Given the description of an element on the screen output the (x, y) to click on. 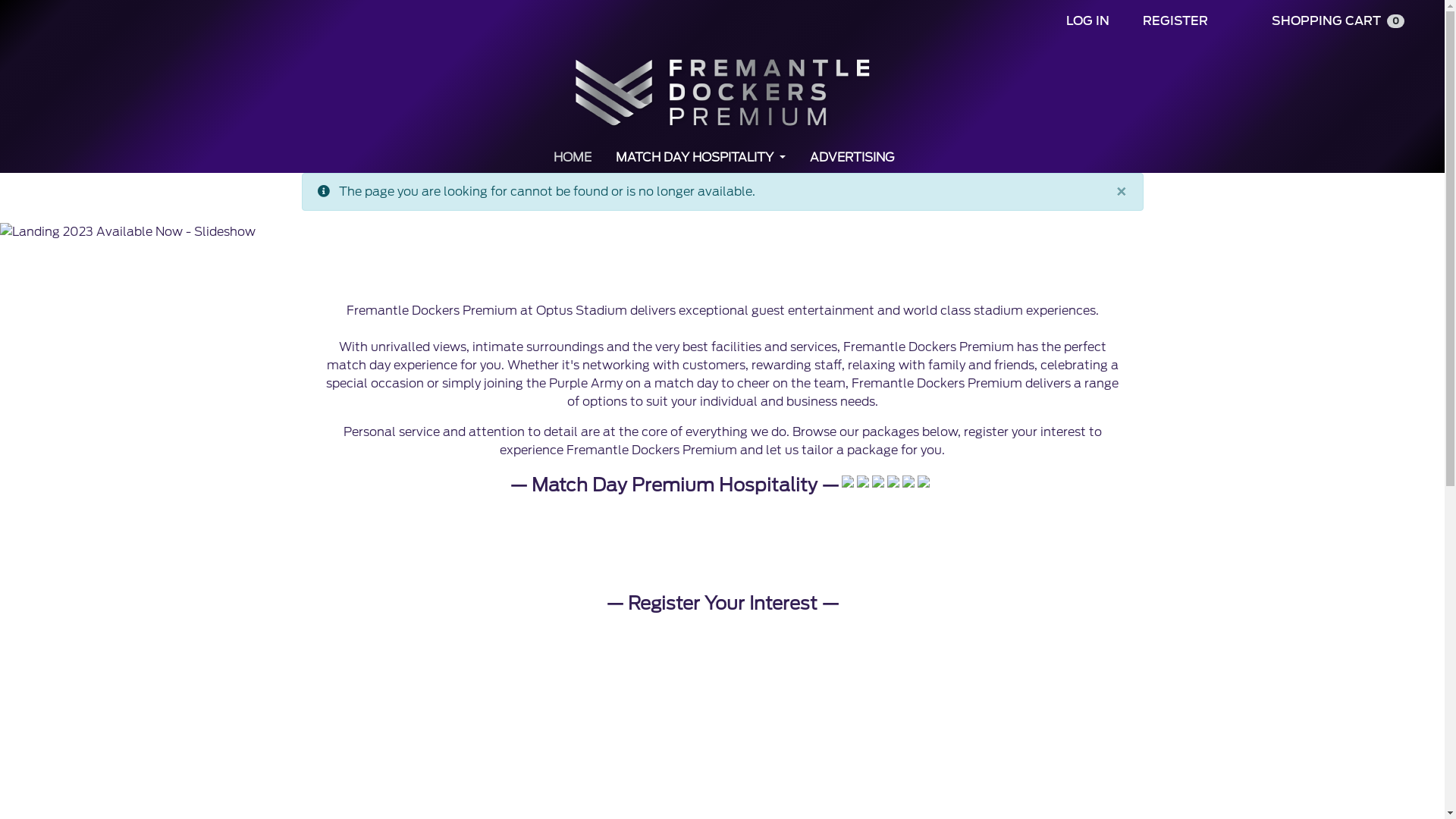
HOME Element type: text (572, 157)
ADVERTISING Element type: text (851, 157)
LOG IN Element type: text (1087, 21)
REGISTER Element type: text (1175, 21)
MATCH DAY HOSPITALITY Element type: text (700, 157)
SHOPPING CART0 Element type: text (1338, 21)
